Given the description of an element on the screen output the (x, y) to click on. 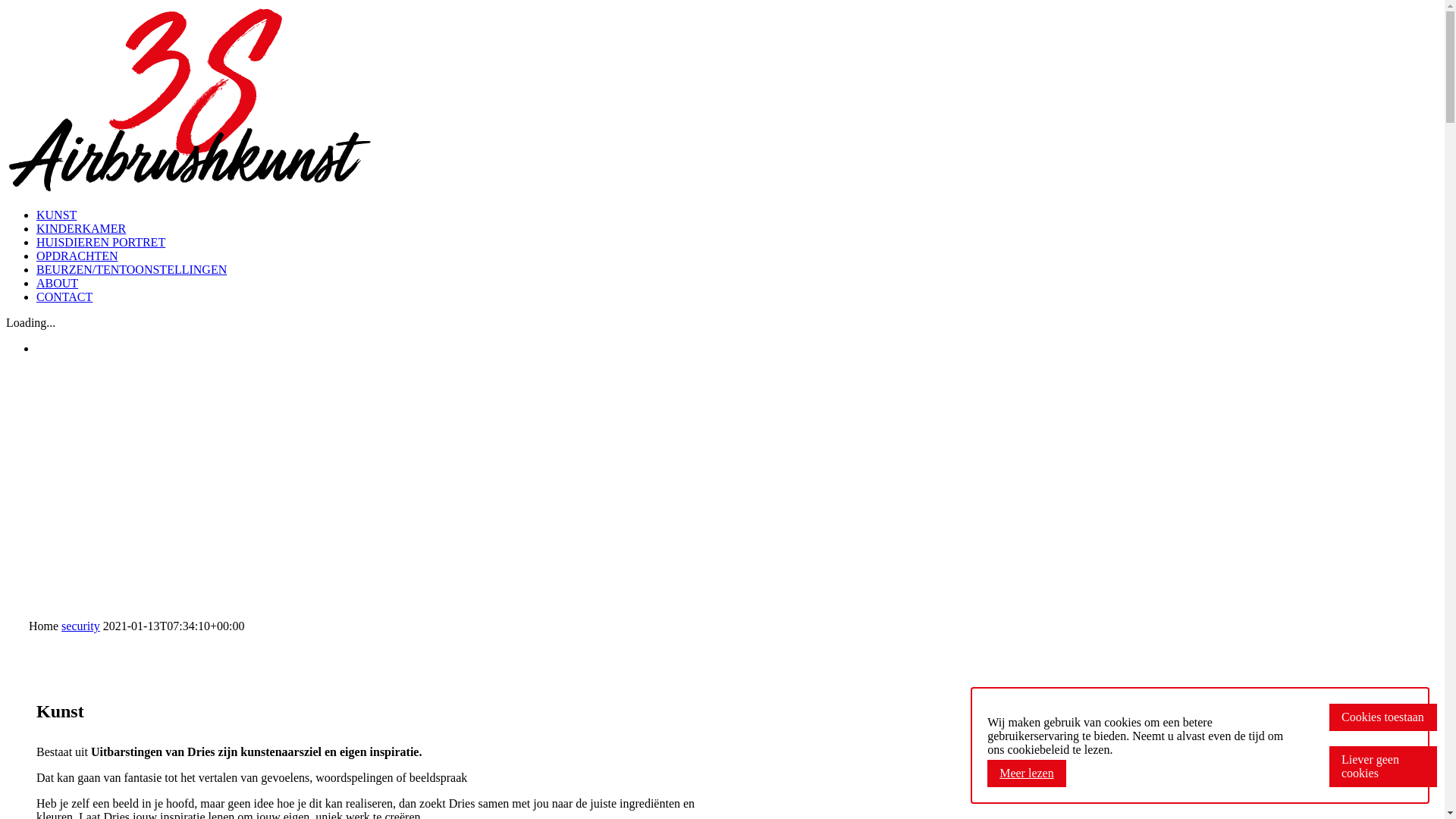
security Element type: text (80, 625)
CONTACT Element type: text (64, 296)
HUISDIEREN PORTRET Element type: text (100, 241)
OPDRACHTEN Element type: text (77, 255)
KINDERKAMER Element type: text (80, 228)
ABOUT Element type: text (57, 282)
BEURZEN/TENTOONSTELLINGEN Element type: text (131, 269)
Meer lezen Element type: text (1026, 773)
KUNST Element type: text (56, 214)
